Given the description of an element on the screen output the (x, y) to click on. 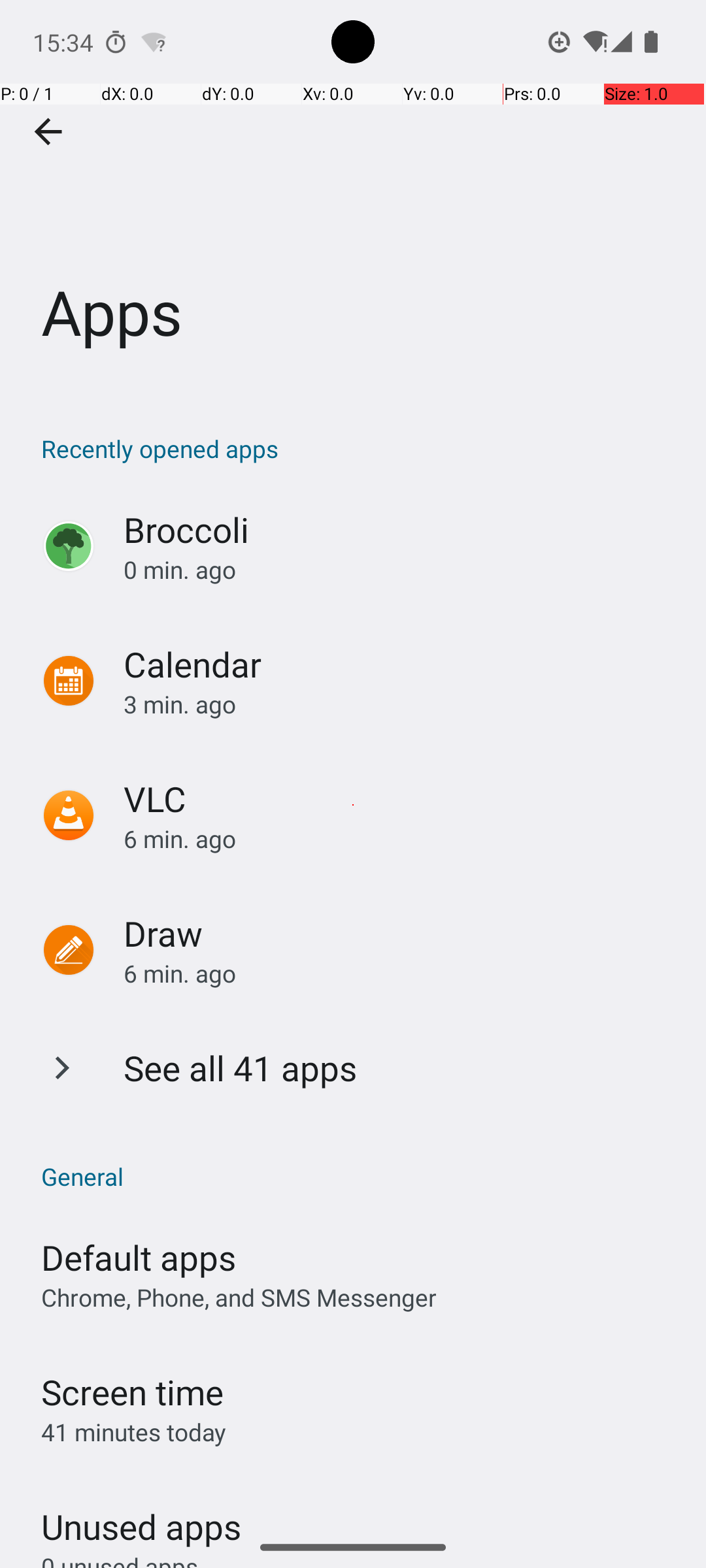
6 min. ago Element type: android.widget.TextView (400, 838)
41 minutes today Element type: android.widget.TextView (133, 1431)
